Given the description of an element on the screen output the (x, y) to click on. 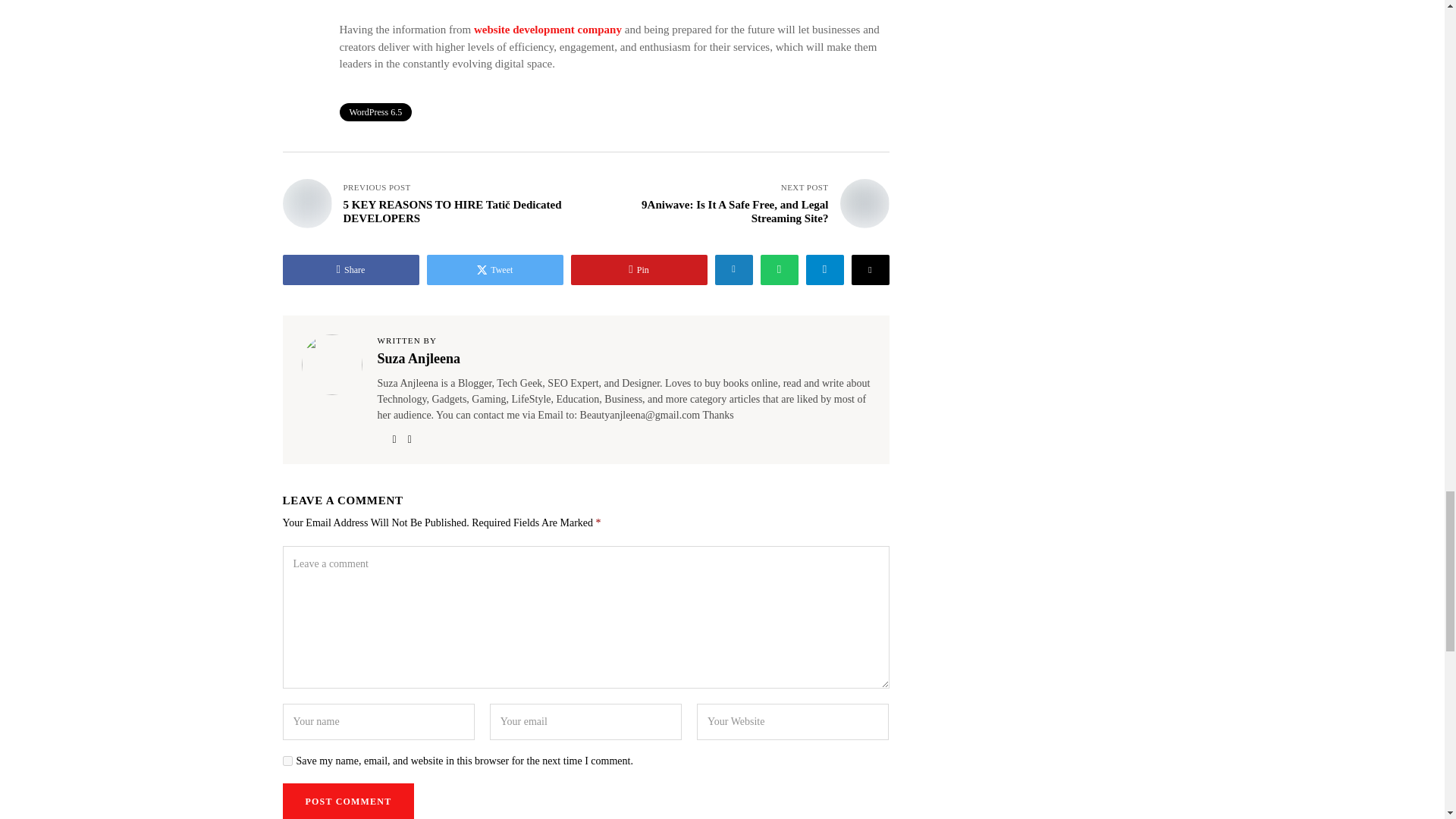
yes (287, 760)
Post Comment (347, 800)
9Aniwave: Is It A Safe Free, and Legal Streaming Site? 5 (864, 203)
